Given the description of an element on the screen output the (x, y) to click on. 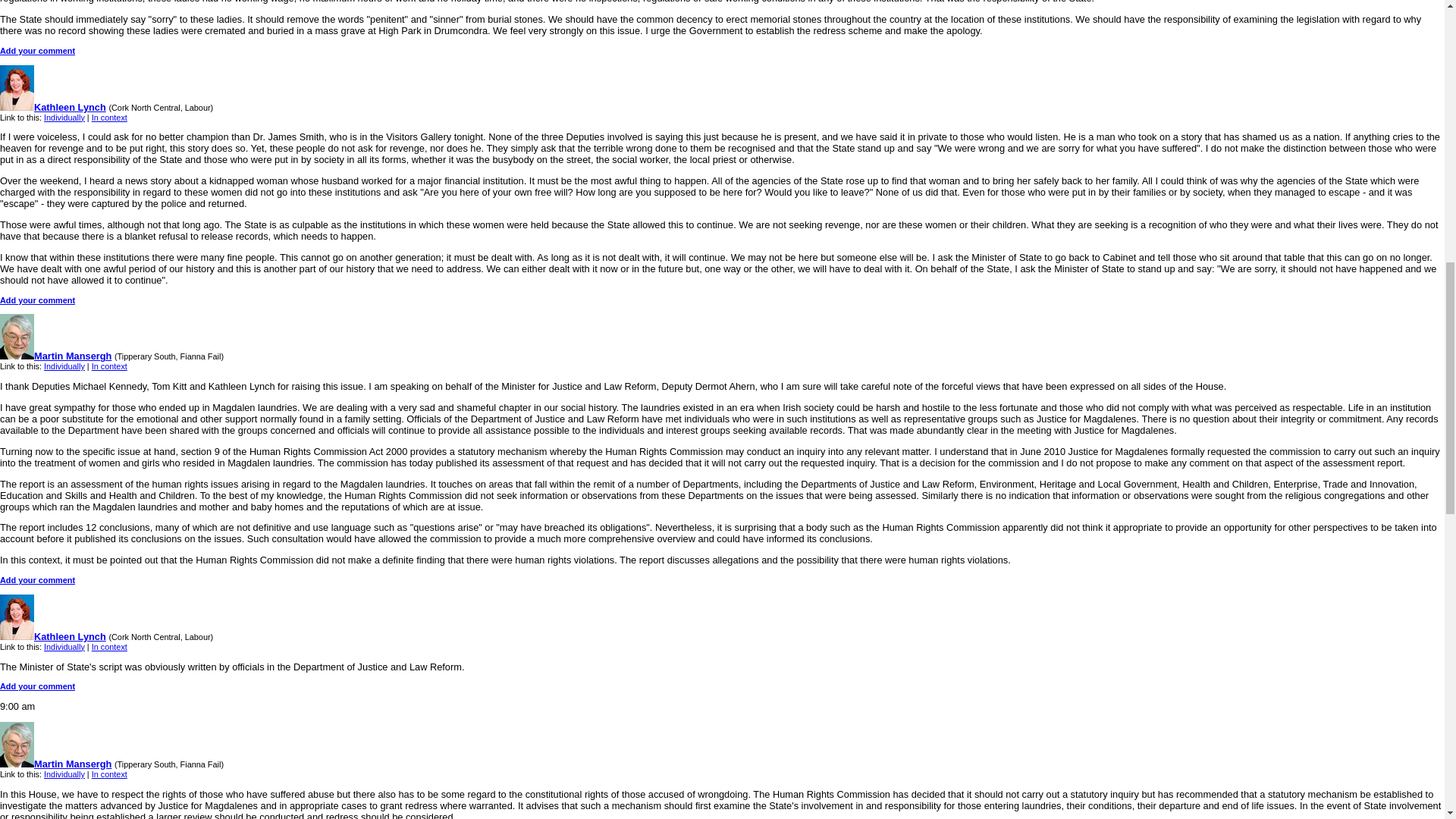
Martin Mansergh (56, 355)
Add your comment (37, 50)
Individually (63, 366)
In context (109, 117)
In context (109, 366)
Add your comment (37, 579)
Kathleen Lynch (53, 107)
Kathleen Lynch (53, 636)
Individually (63, 117)
Add your comment (37, 299)
